Given the description of an element on the screen output the (x, y) to click on. 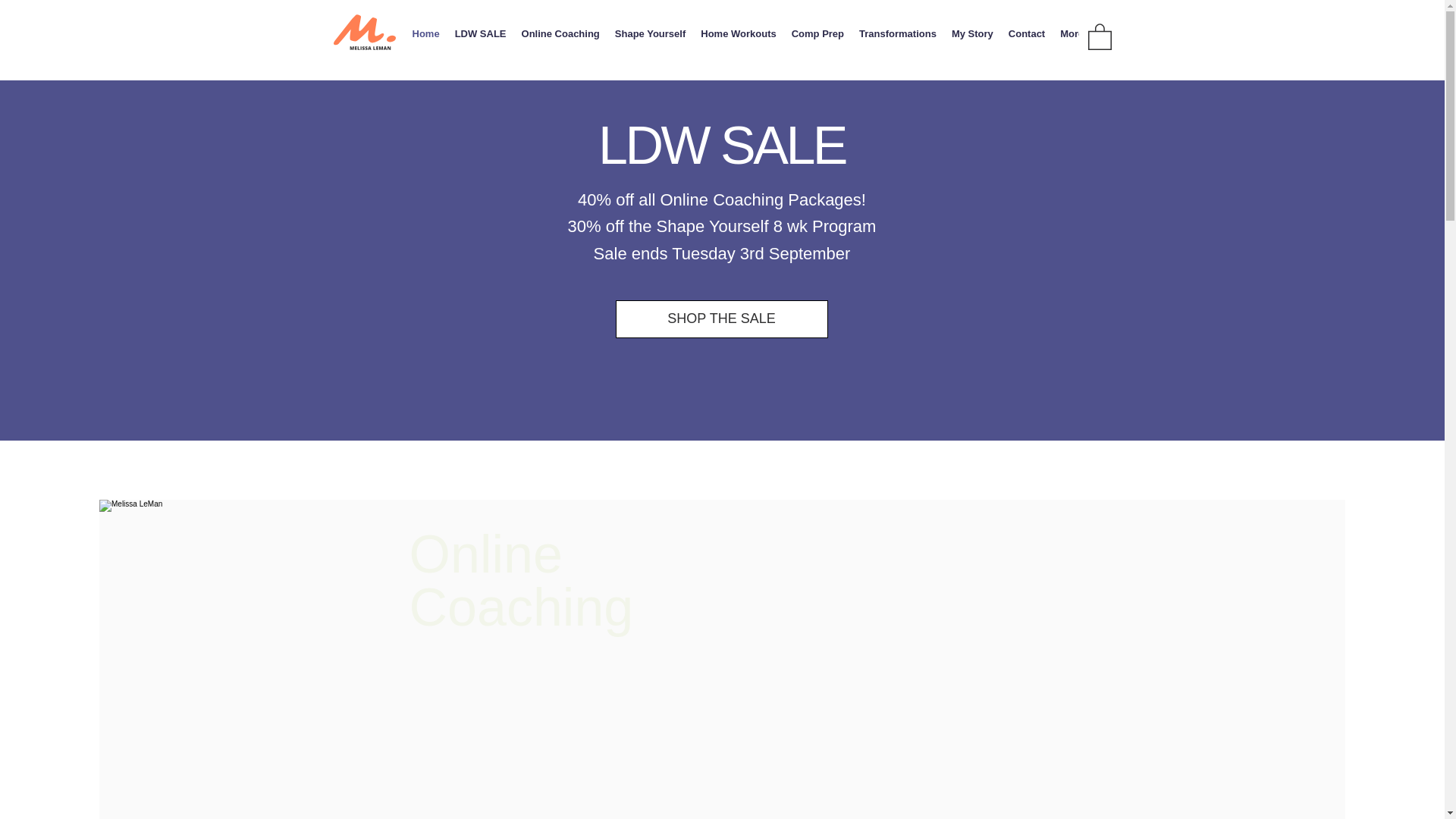
Contact (1026, 38)
Online Coaching (560, 38)
Shape Yourself (650, 38)
SHOP THE SALE (721, 319)
Comp Prep (817, 38)
My Story (972, 38)
Home (425, 38)
Transformations (897, 38)
Home Workouts (738, 38)
LDW SALE (479, 38)
